Given the description of an element on the screen output the (x, y) to click on. 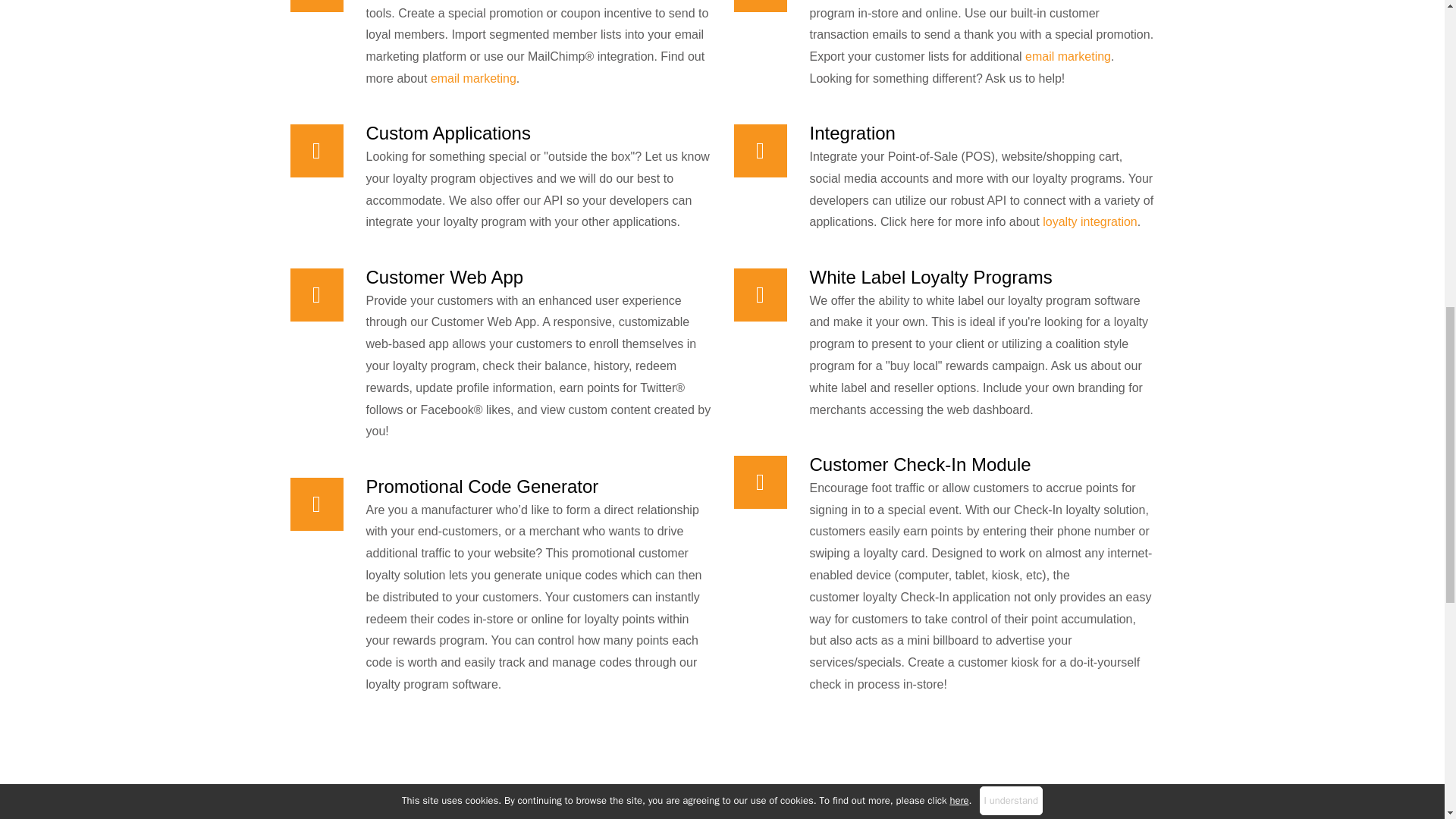
Email marketing to loyal customers (473, 78)
email marketing (473, 78)
email marketing (1067, 56)
Loyalty program integration (1089, 221)
loyalty integration (1089, 221)
Targeted email marketing (1067, 56)
